Given the description of an element on the screen output the (x, y) to click on. 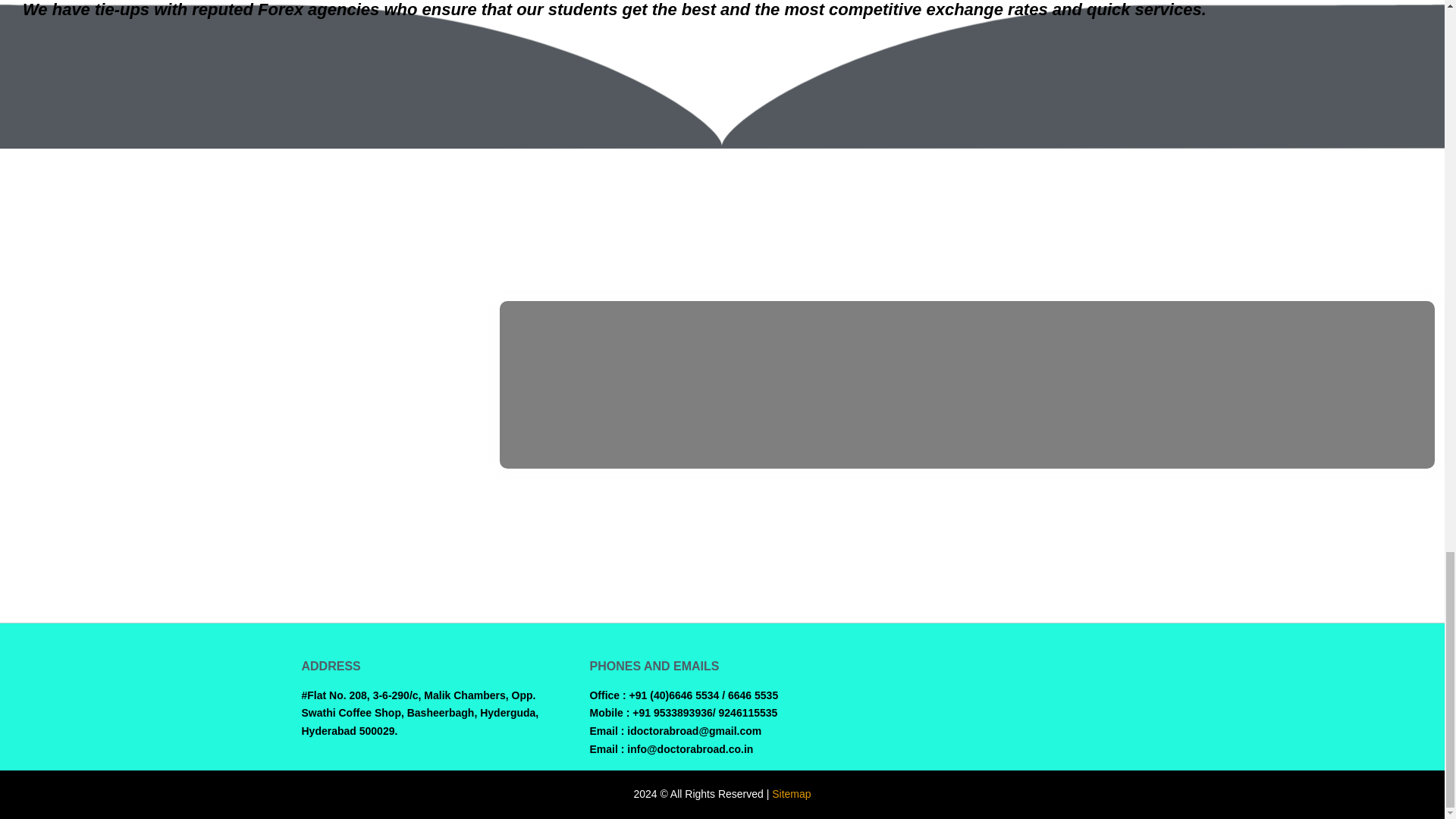
Twitter (1061, 674)
YouTube (1127, 674)
Instagram (1094, 674)
Facebook (1028, 674)
